Given the description of an element on the screen output the (x, y) to click on. 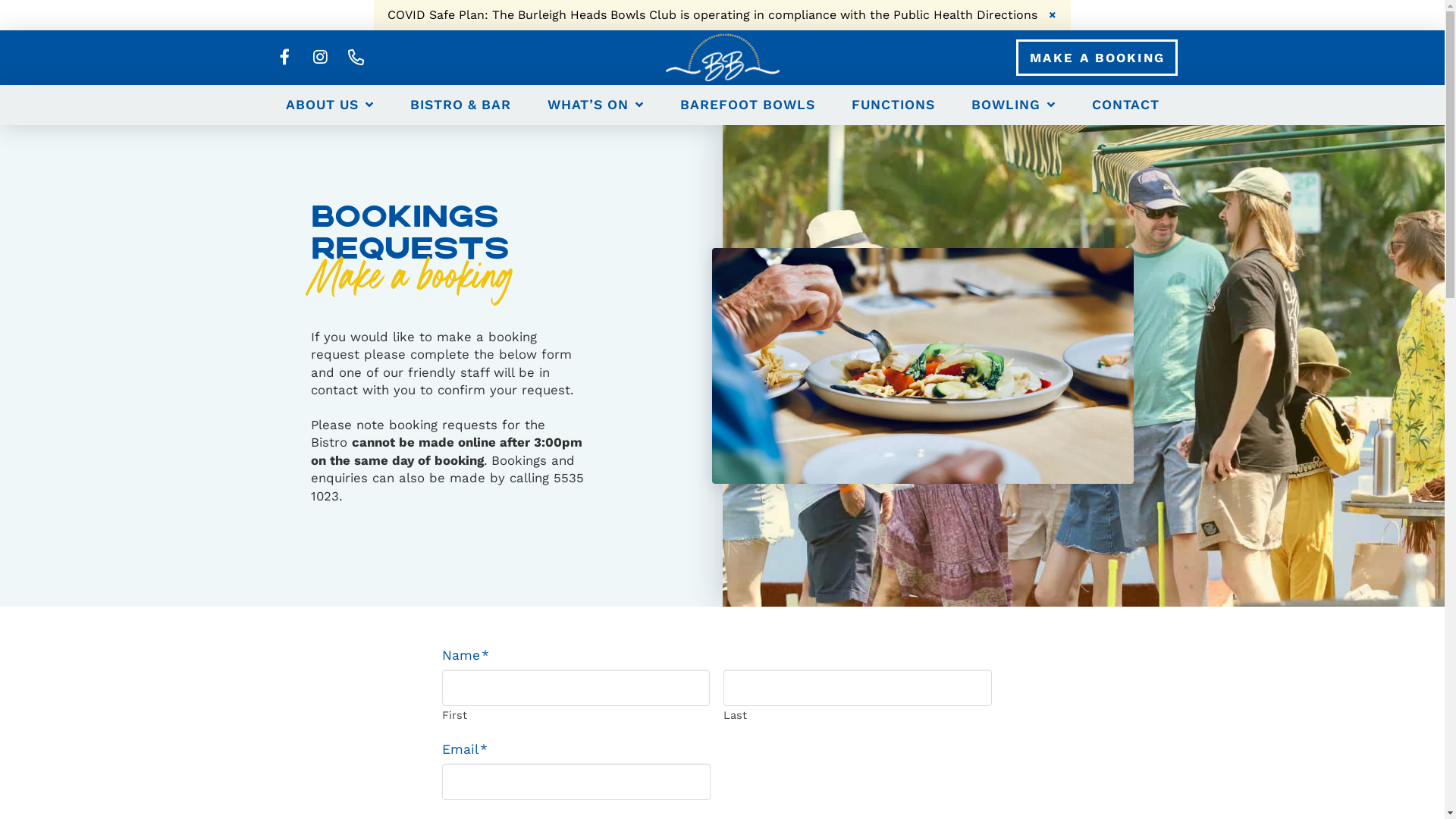
ABOUT US Element type: text (328, 104)
CONTACT Element type: text (1124, 104)
BAREFOOT BOWLS Element type: text (746, 104)
BOWLING Element type: text (1012, 104)
FUNCTIONS Element type: text (892, 104)
BISTRO & BAR Element type: text (460, 104)
MAKE A BOOKING Element type: text (1096, 57)
